Given the description of an element on the screen output the (x, y) to click on. 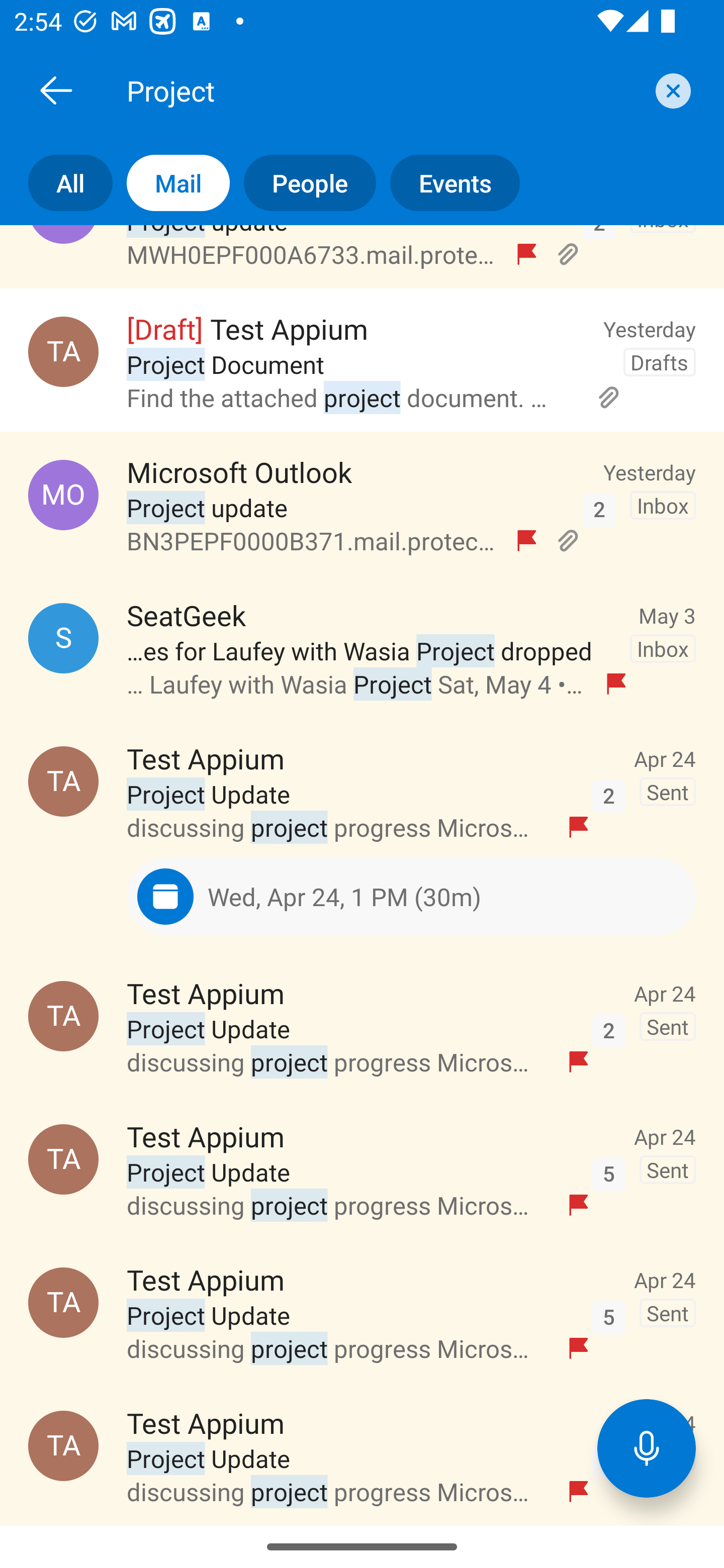
Back (55, 89)
Project (384, 89)
clear search (670, 90)
All (56, 183)
People (302, 183)
Events (447, 183)
Voice Assistant (646, 1447)
